Given the description of an element on the screen output the (x, y) to click on. 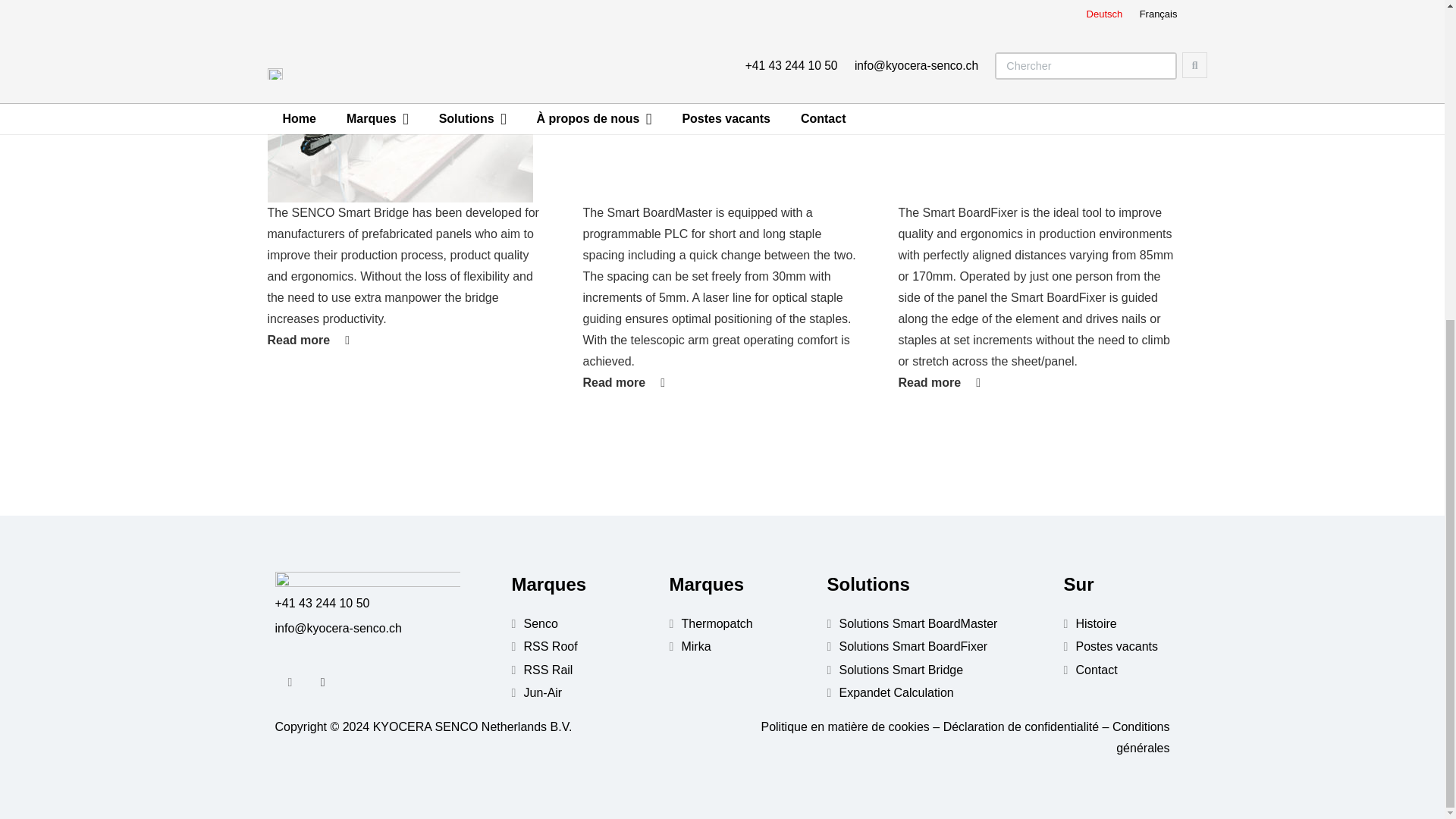
Back to top (30, 330)
LinkedIn (289, 682)
YouTube (322, 682)
